Given the description of an element on the screen output the (x, y) to click on. 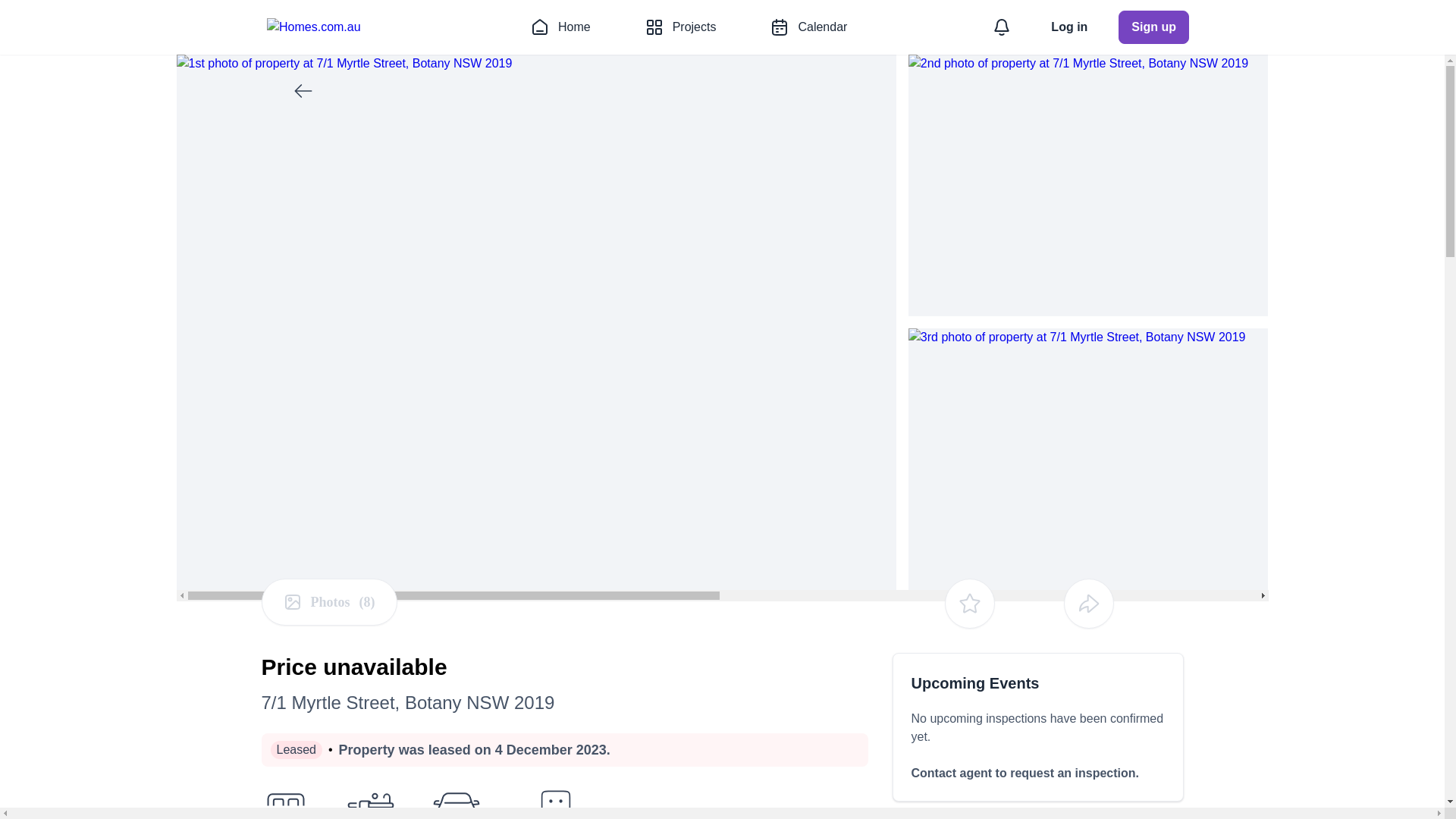
Sign up (1153, 27)
Log in (1069, 27)
Calendar (808, 27)
Projects (681, 27)
Home (560, 27)
